Given the description of an element on the screen output the (x, y) to click on. 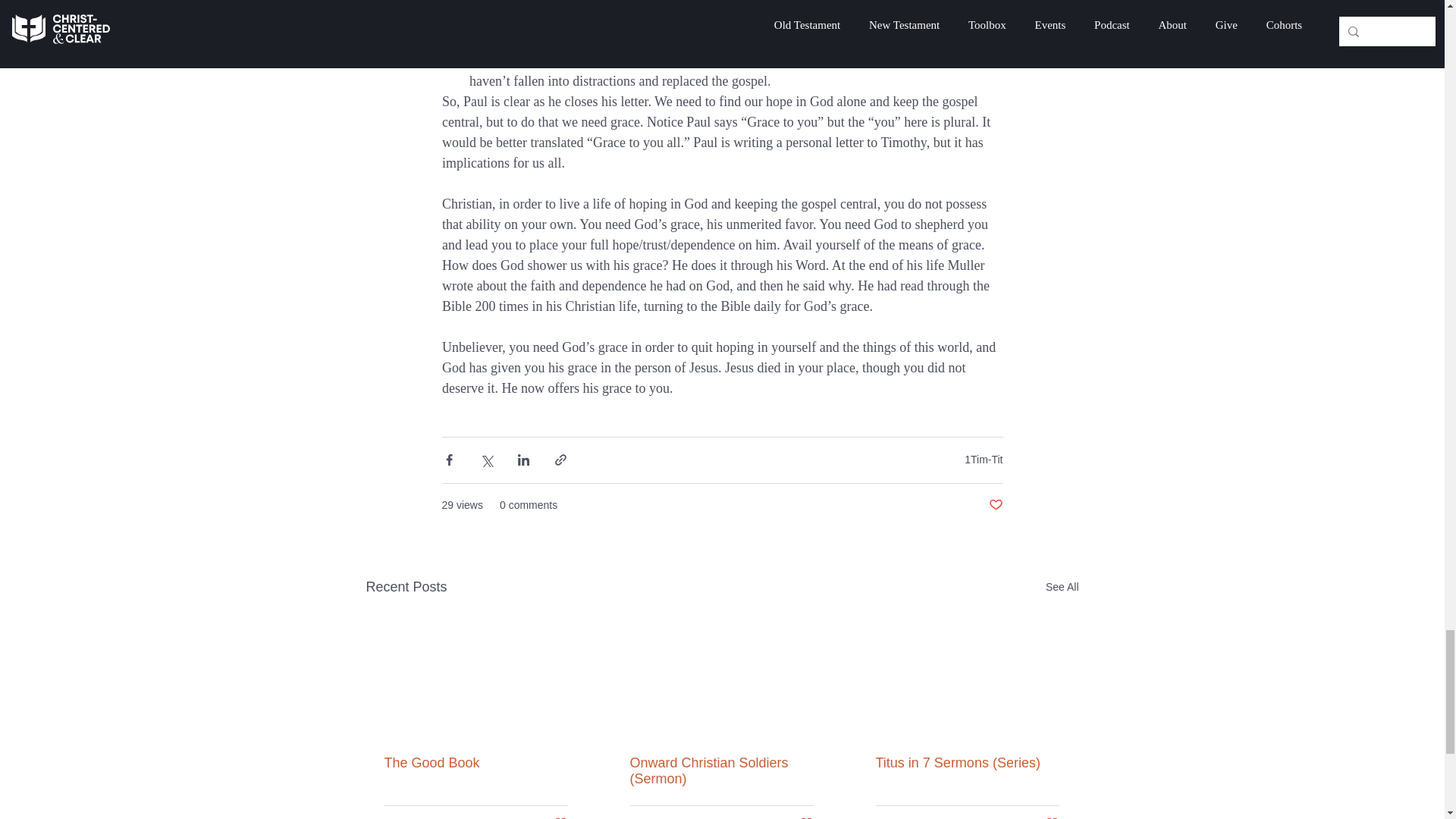
See All (1061, 587)
Post not marked as liked (995, 505)
1Tim-Tit (983, 459)
The Good Book (475, 763)
